Given the description of an element on the screen output the (x, y) to click on. 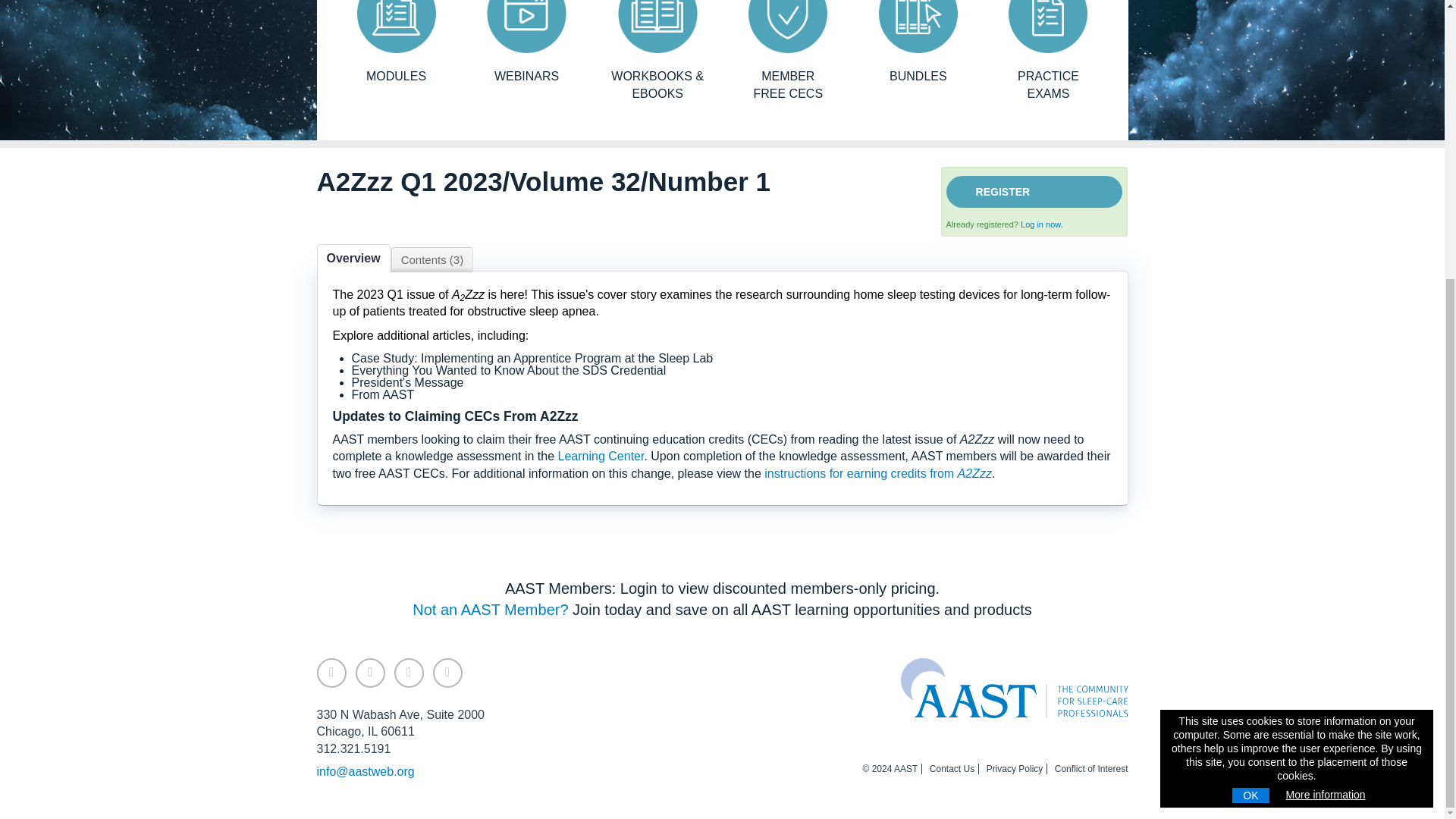
Learning Center (601, 455)
More information (1325, 378)
Overview (353, 257)
OK (787, 51)
Not an AAST Member? (1249, 379)
BUNDLES (489, 609)
instructions for earning credits from A2Zzz (1047, 51)
Contact Us (918, 42)
Log in now. (877, 472)
MODULES (952, 768)
WEBINARS (1041, 224)
REGISTER (396, 42)
